Given the description of an element on the screen output the (x, y) to click on. 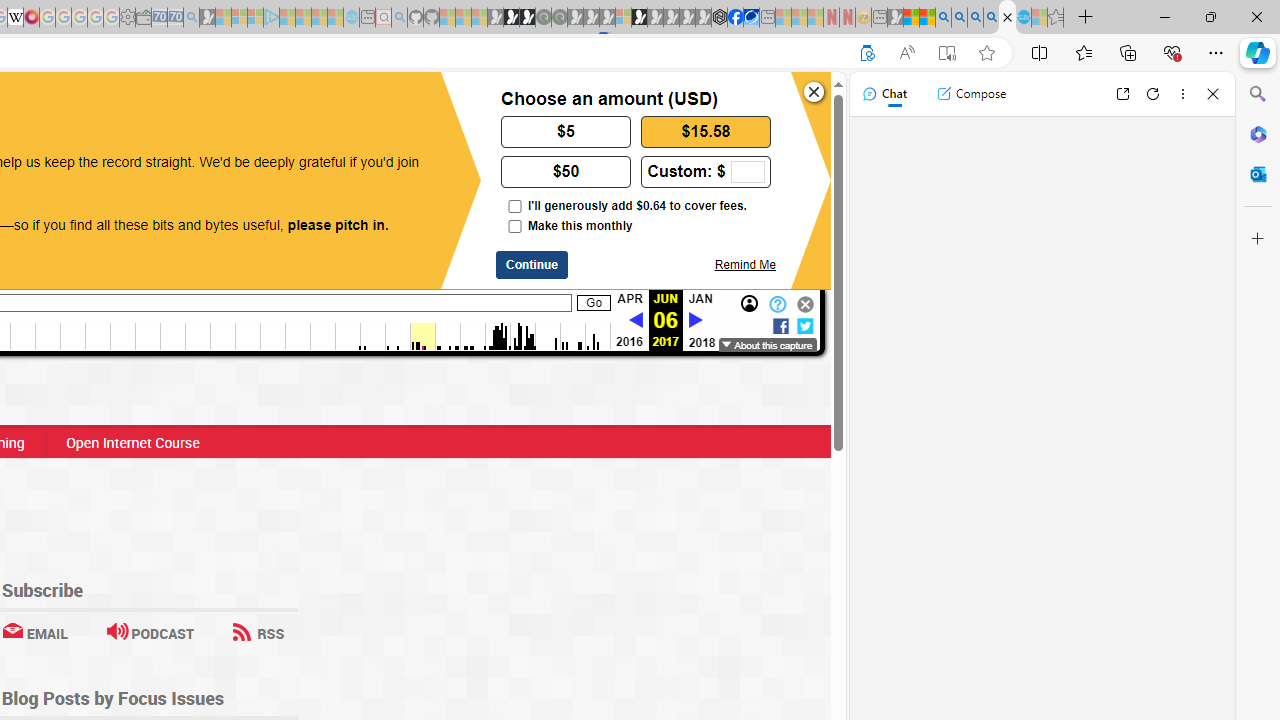
Close banner (813, 92)
Previous capture (635, 319)
Custom: $ (705, 170)
Next capture (695, 321)
2016 (628, 341)
2018 (701, 341)
